Given the description of an element on the screen output the (x, y) to click on. 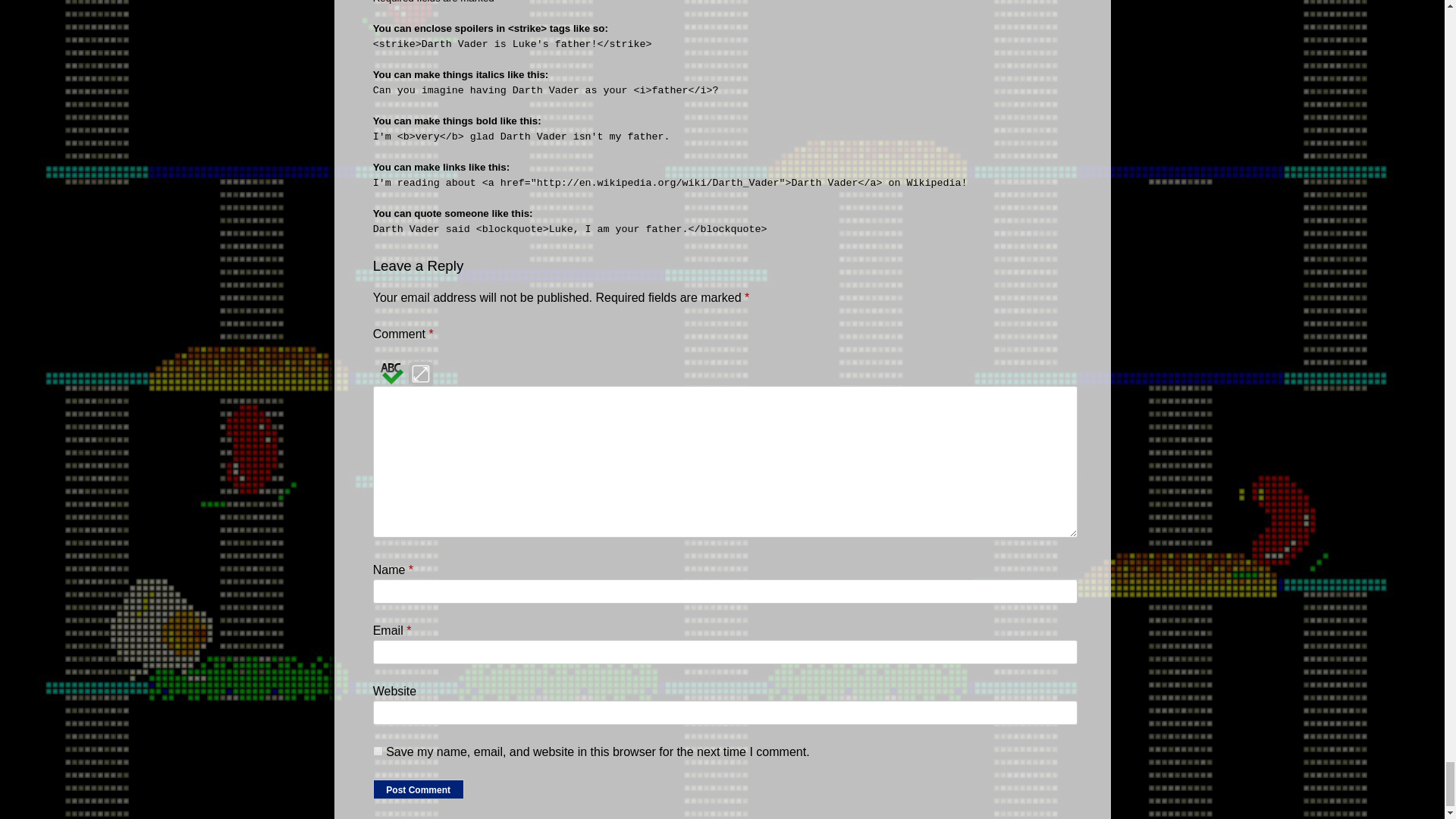
Post Comment (418, 789)
yes (377, 750)
